Given the description of an element on the screen output the (x, y) to click on. 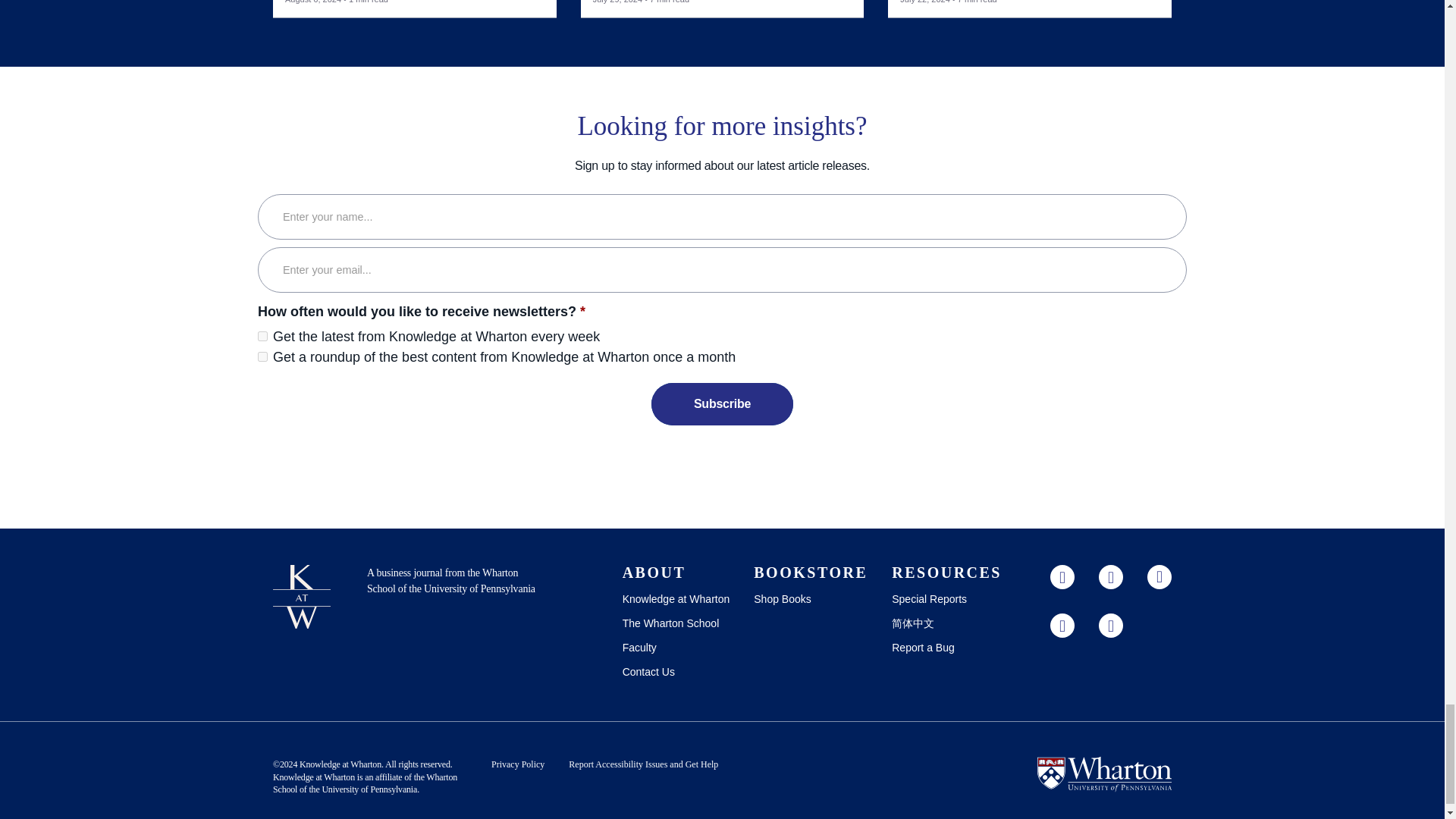
6825401 (262, 356)
6836382 (262, 336)
Knowledge at Wharton (340, 764)
Knowledge at Wharton (314, 777)
